Given the description of an element on the screen output the (x, y) to click on. 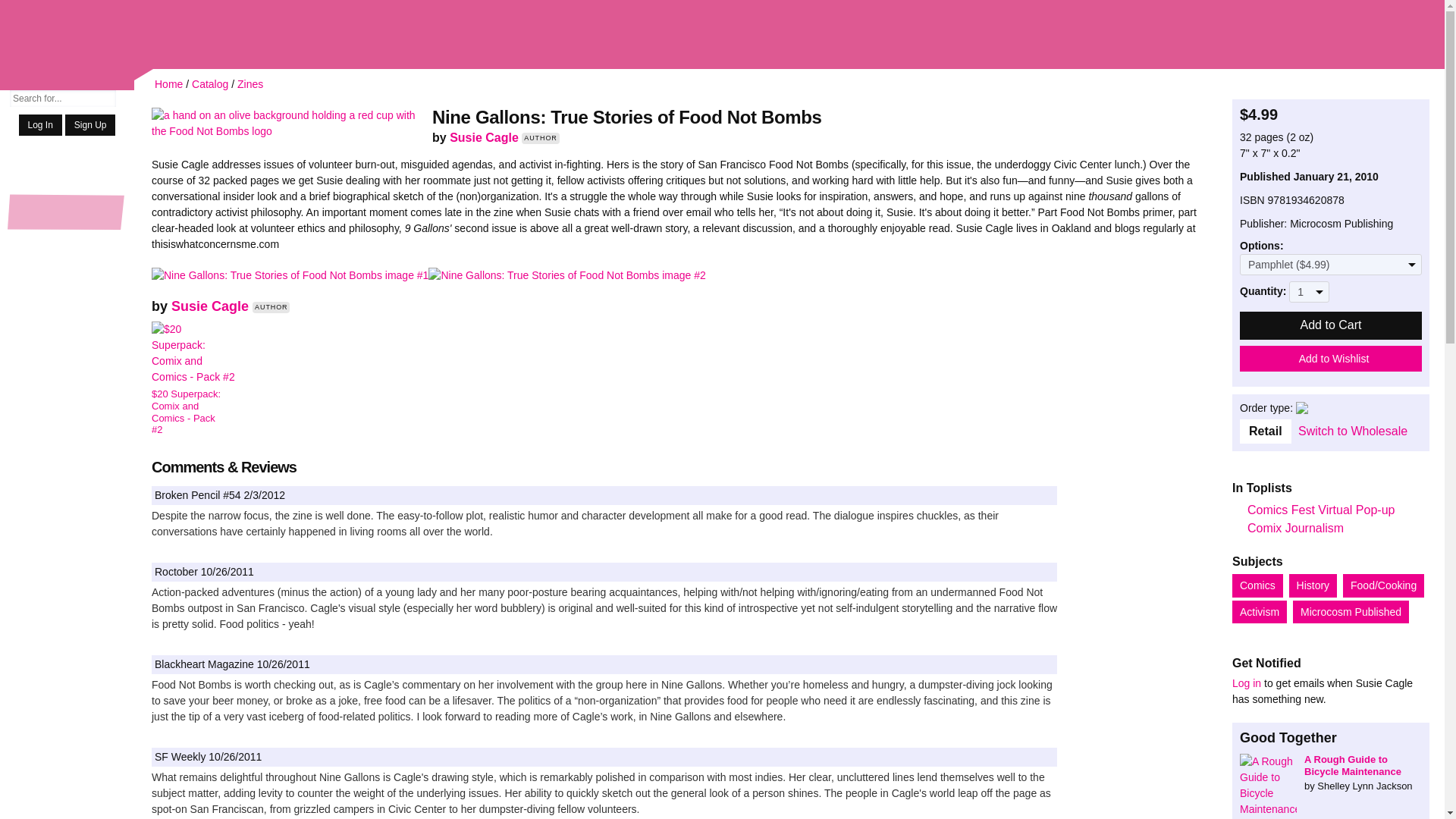
Patches (66, 301)
Cards (66, 438)
Totally Random (66, 156)
Stickers (66, 323)
Shirts (66, 241)
Posters (66, 386)
A Rough Guide to Bicycle Maintenance (1331, 772)
Sign Up (90, 124)
Add to Cart (1331, 325)
Zines (250, 83)
Books (66, 181)
Enamel Pins (66, 366)
Journals (66, 508)
Ebooks (66, 529)
Buttons (66, 345)
